Given the description of an element on the screen output the (x, y) to click on. 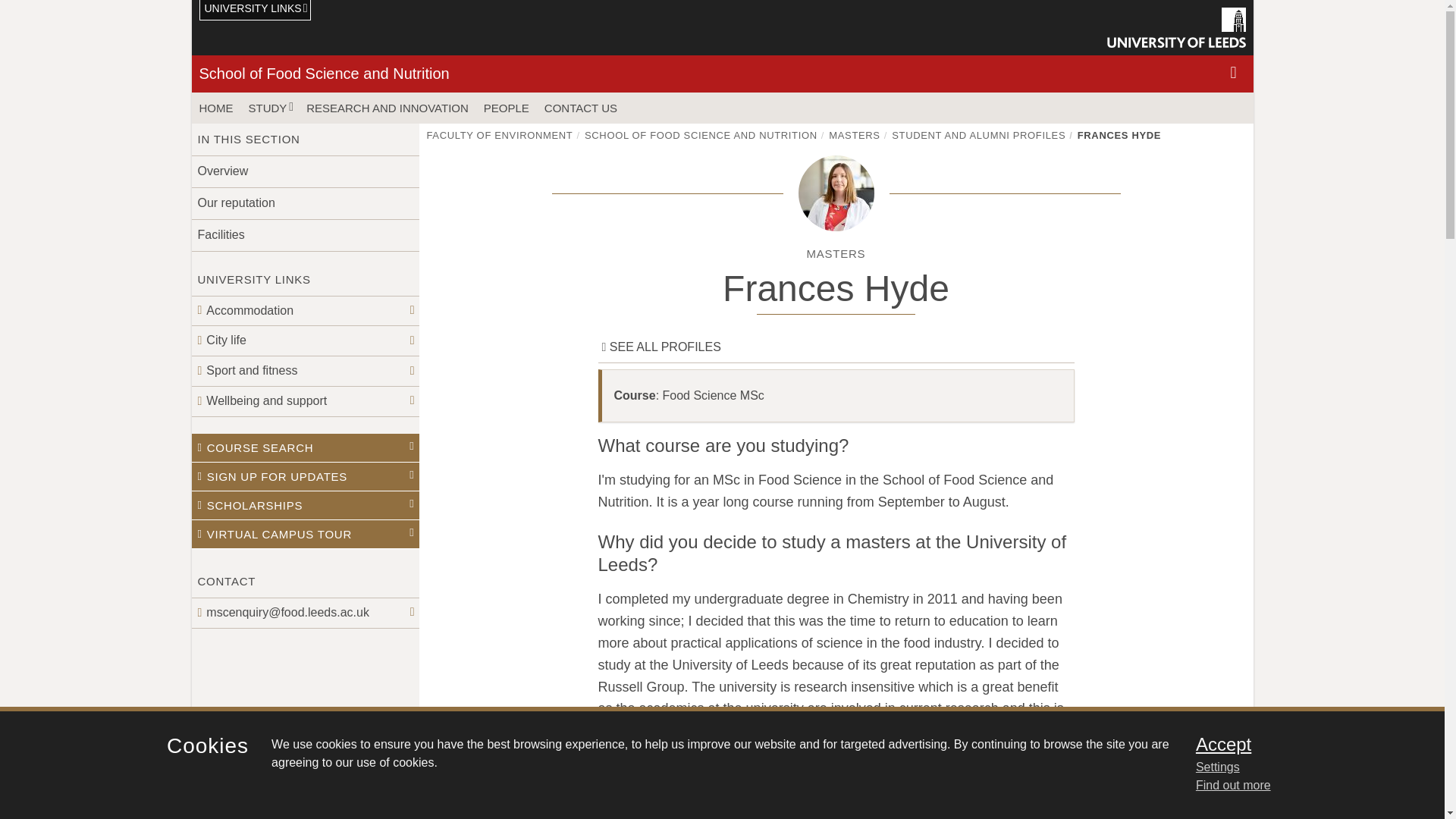
Find out more (1233, 784)
UNIVERSITY LINKS (254, 10)
Accept (1300, 744)
Settings (1300, 767)
University of Leeds homepage (1176, 27)
